Given the description of an element on the screen output the (x, y) to click on. 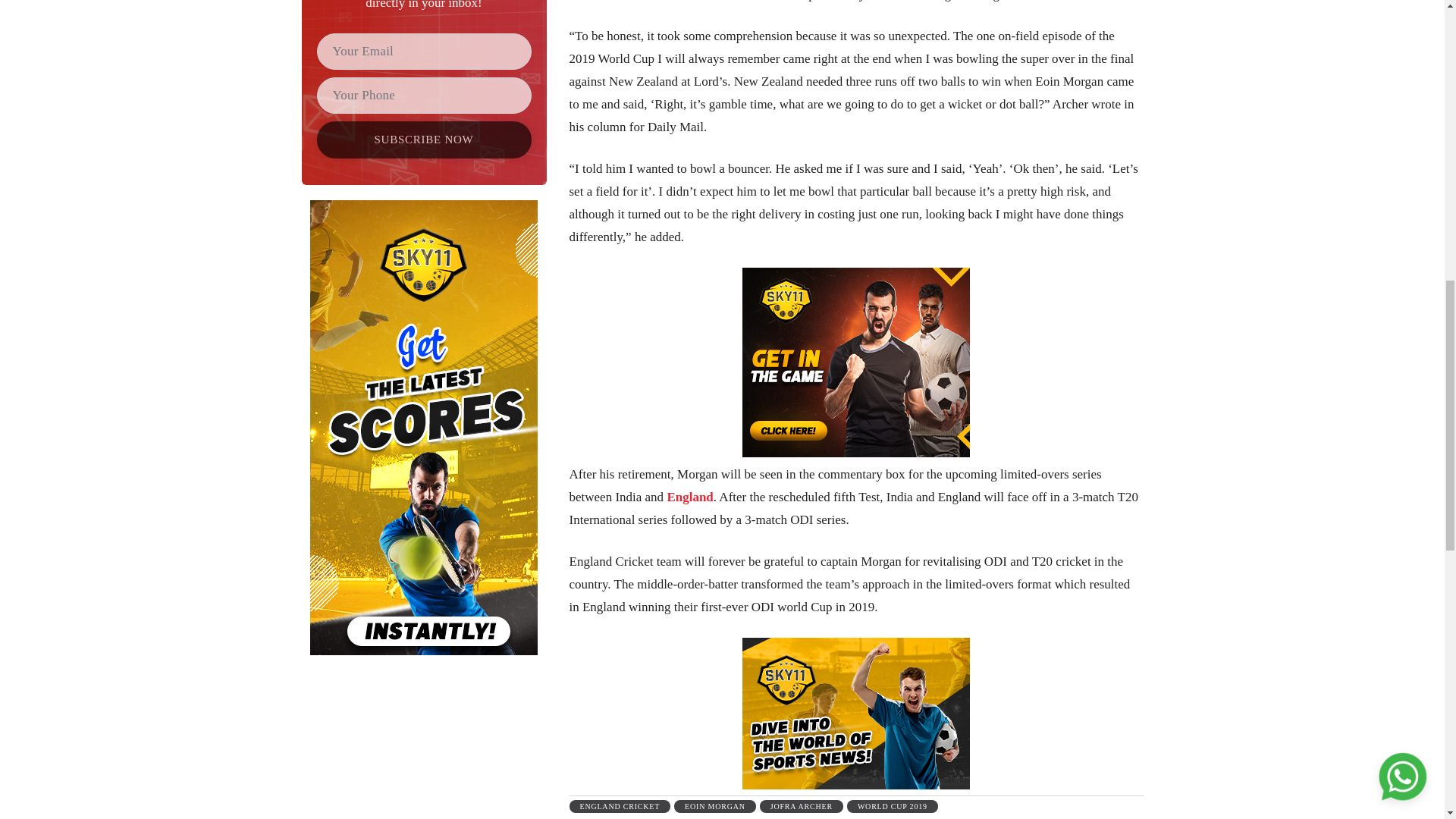
WORLD CUP 2019 (892, 806)
ENGLAND CRICKET (619, 806)
SUBSCRIBE NOW (424, 139)
EOIN MORGAN (714, 806)
England (689, 496)
JOFRA ARCHER (801, 806)
